Given the description of an element on the screen output the (x, y) to click on. 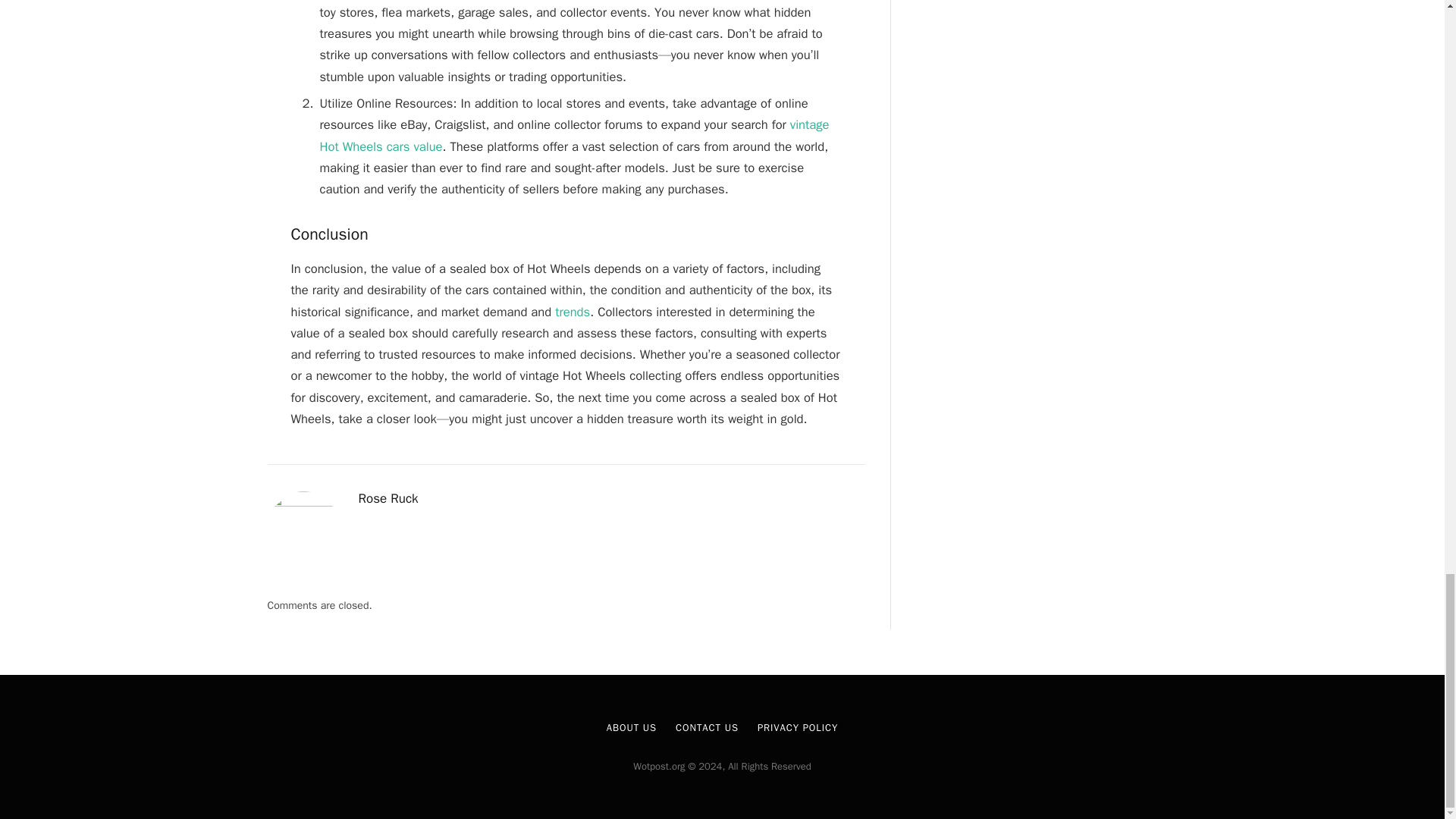
trends (571, 311)
vintage Hot Wheels cars value (574, 135)
Posts by Rose Ruck (387, 498)
Rose Ruck (387, 498)
